Given the description of an element on the screen output the (x, y) to click on. 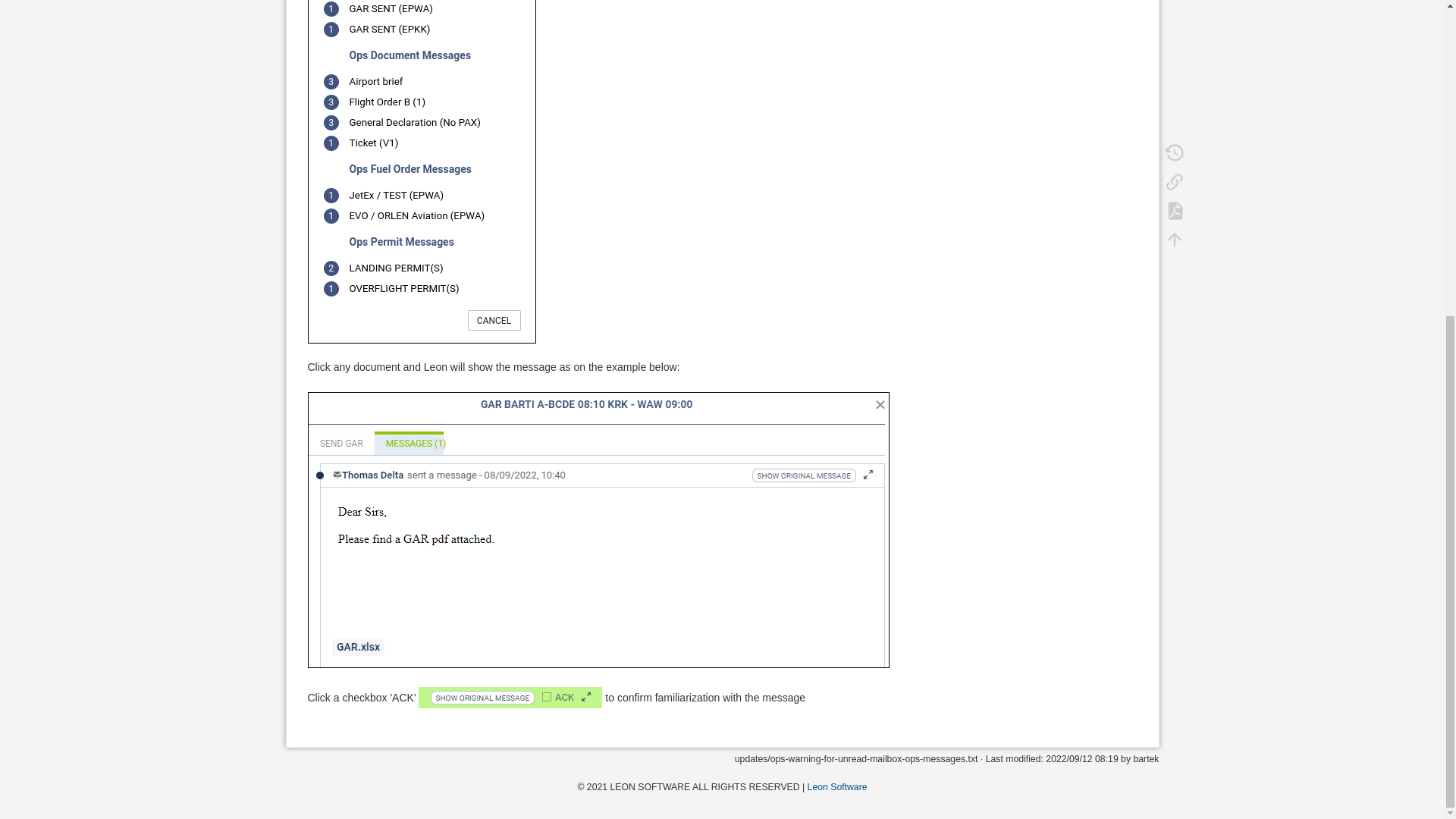
Leon Software (837, 787)
